Given the description of an element on the screen output the (x, y) to click on. 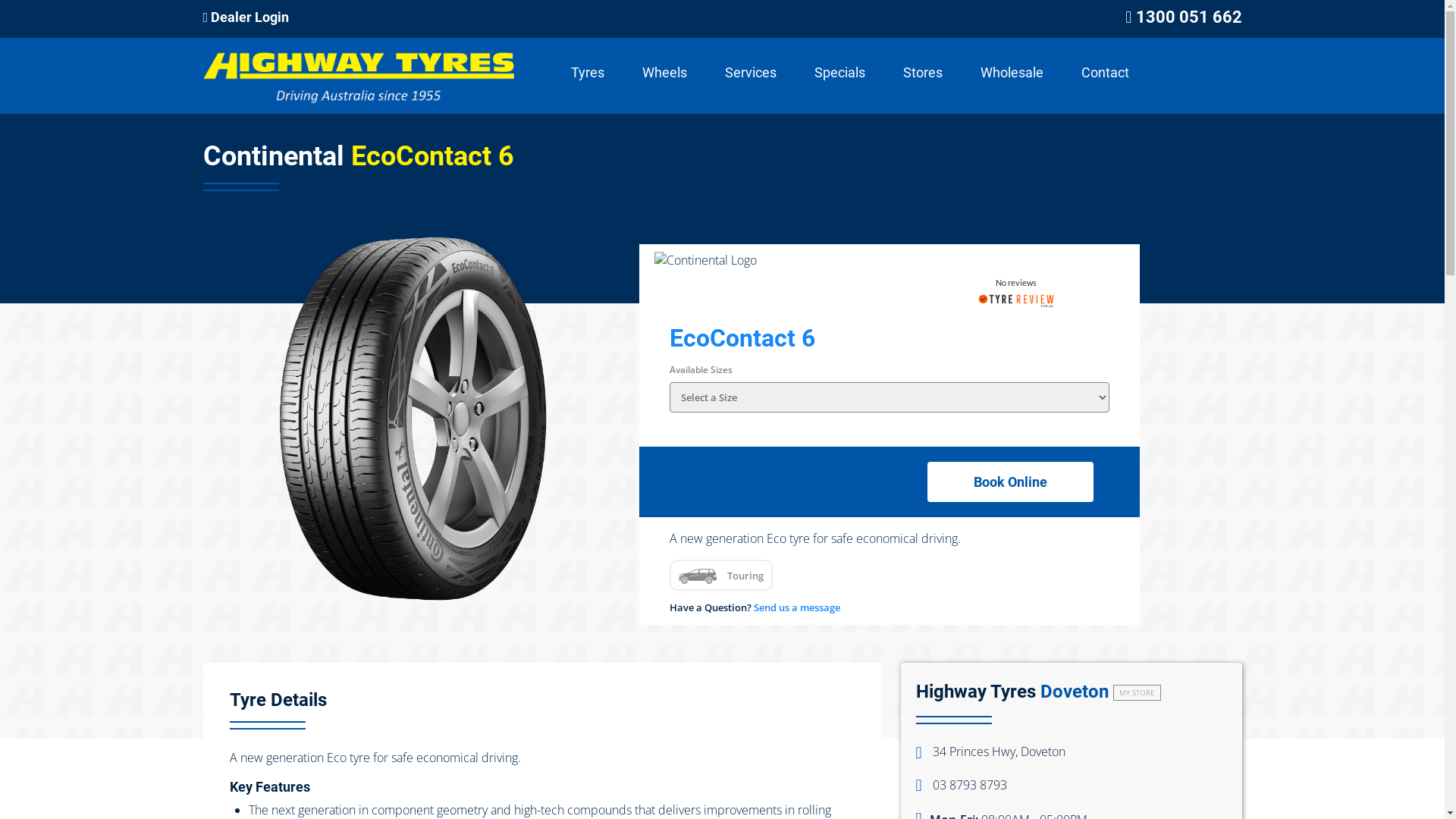
34 Princes Hwy, Doveton Element type: text (990, 751)
Specials Element type: text (839, 72)
Send Message Element type: text (722, 603)
1300 051 662 Element type: text (1188, 16)
Services Element type: text (750, 72)
Tyres Element type: text (586, 72)
Wholesale Element type: text (1010, 72)
Stores Element type: text (921, 72)
Dealer Login Element type: text (246, 17)
Wheels Element type: text (663, 72)
Contact Element type: text (1105, 72)
No reviews Element type: text (1015, 284)
Send us a message Element type: text (796, 607)
03 8793 8793 Element type: text (961, 784)
